Given the description of an element on the screen output the (x, y) to click on. 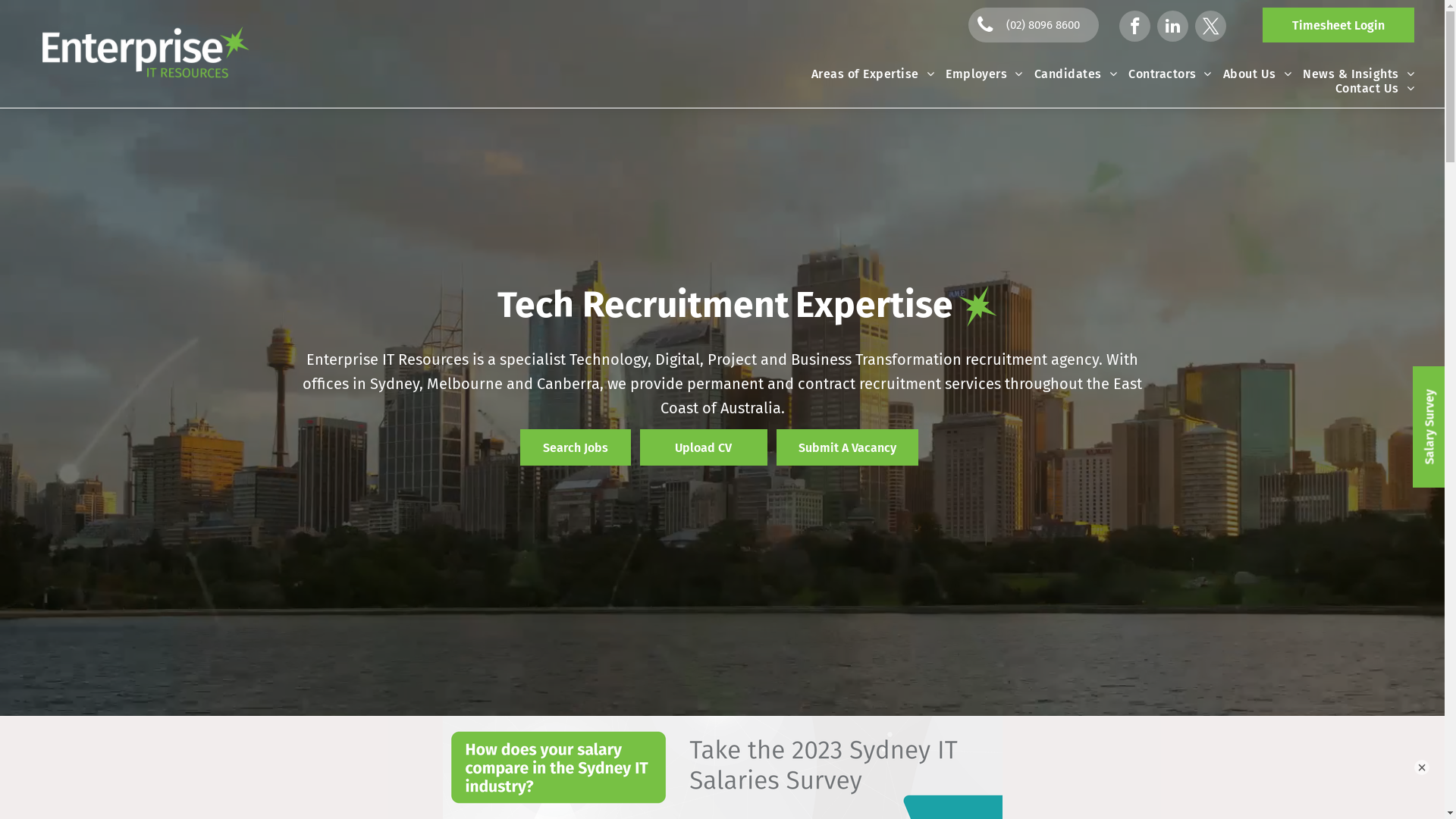
Employers Element type: text (978, 73)
Submit A Vacancy Element type: text (847, 447)
Candidates Element type: text (1069, 73)
(02) 8096 8600 Element type: text (1033, 24)
Contractors Element type: text (1164, 73)
Timesheet Login Element type: text (1338, 24)
Contact Us Element type: text (1369, 88)
Search Jobs Element type: text (575, 447)
Areas of Expertise Element type: text (867, 73)
About Us Element type: text (1251, 73)
News & Insights Element type: text (1352, 73)
Upload CV Element type: text (703, 447)
